Given the description of an element on the screen output the (x, y) to click on. 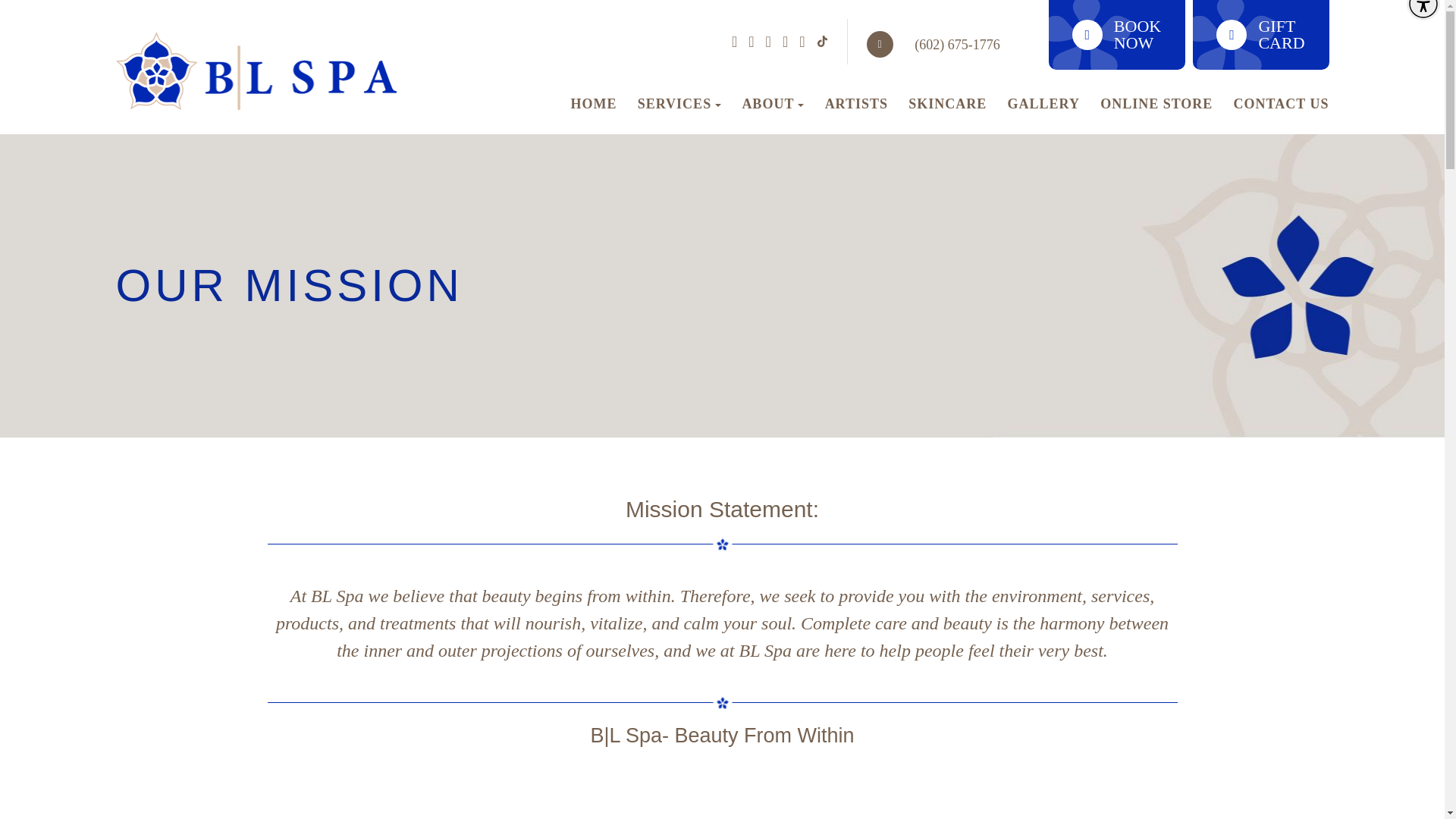
Accessibility Menu (1422, 10)
